Given the description of an element on the screen output the (x, y) to click on. 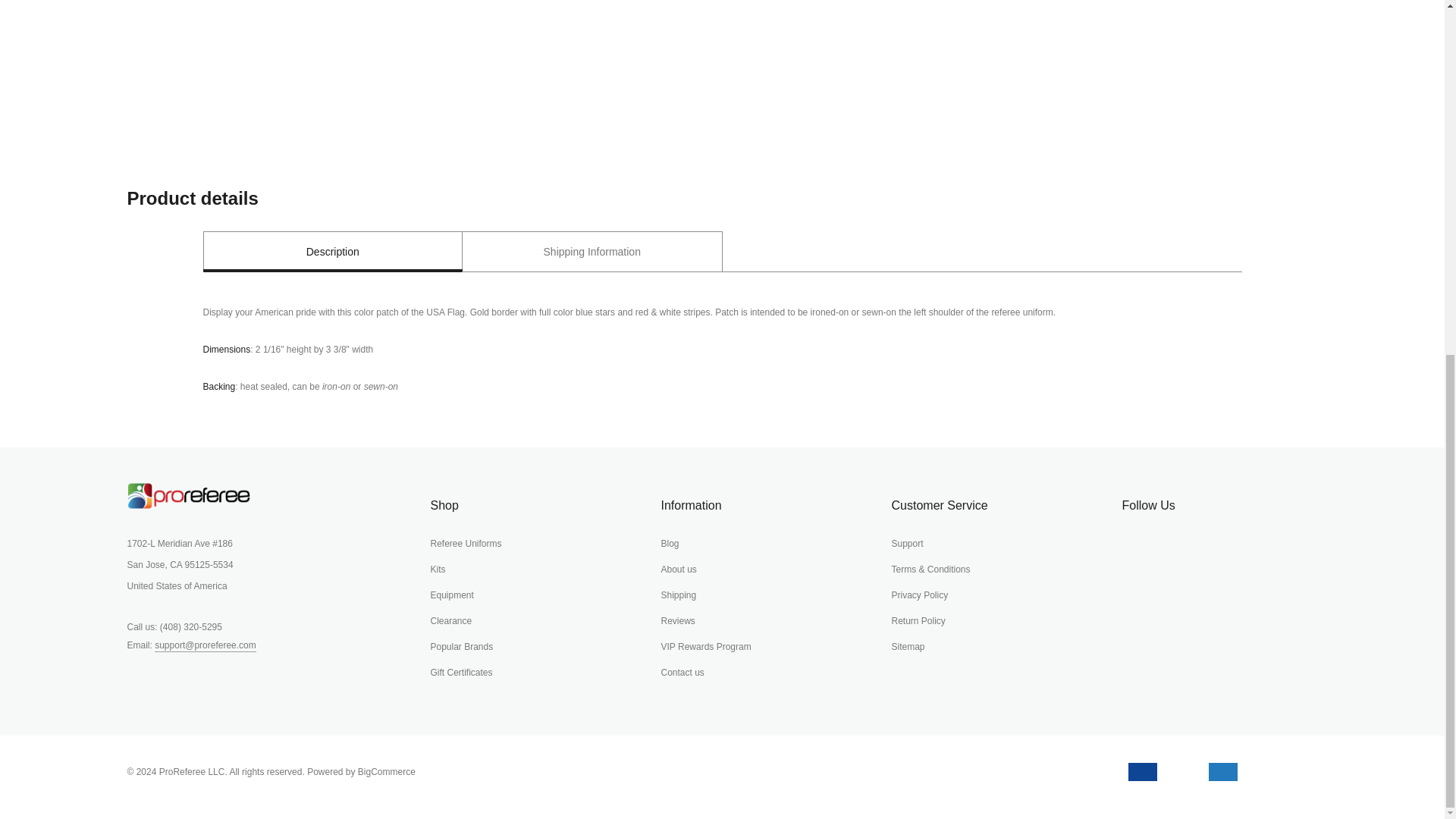
USA Flag Referee Uniform Patch (515, 65)
